Given the description of an element on the screen output the (x, y) to click on. 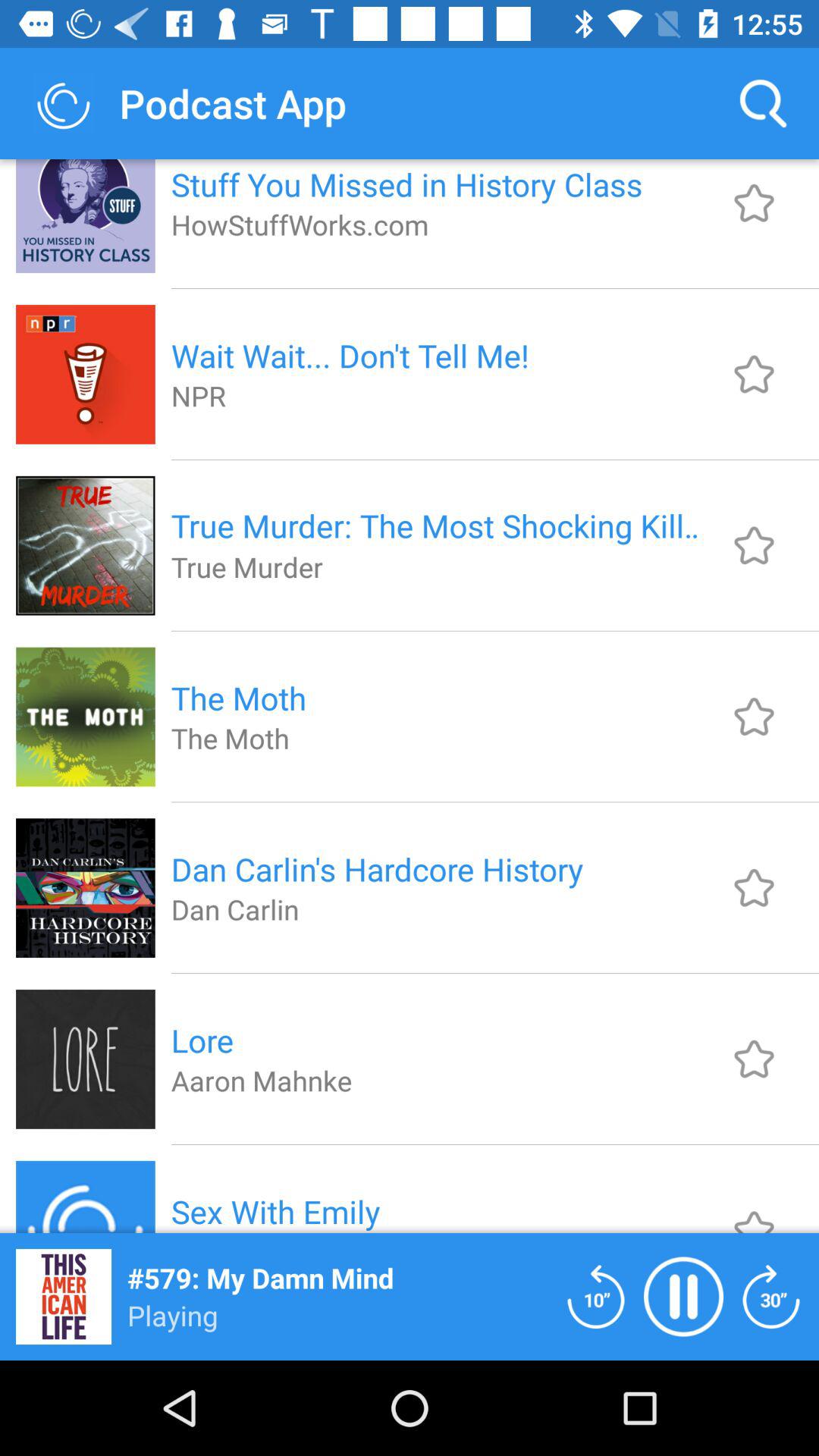
favorite podcast (754, 887)
